Given the description of an element on the screen output the (x, y) to click on. 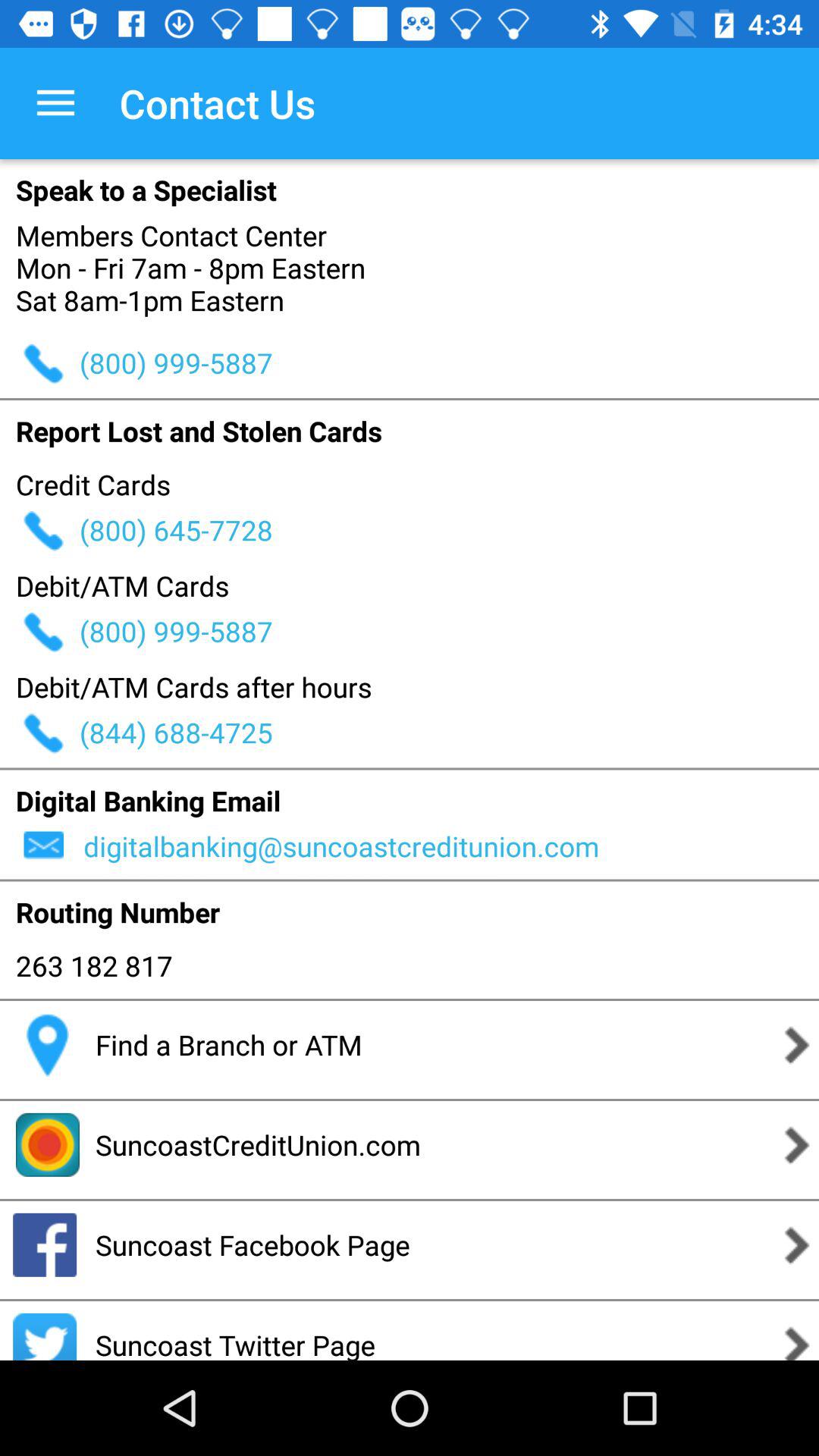
launch icon above speak to a (55, 103)
